Given the description of an element on the screen output the (x, y) to click on. 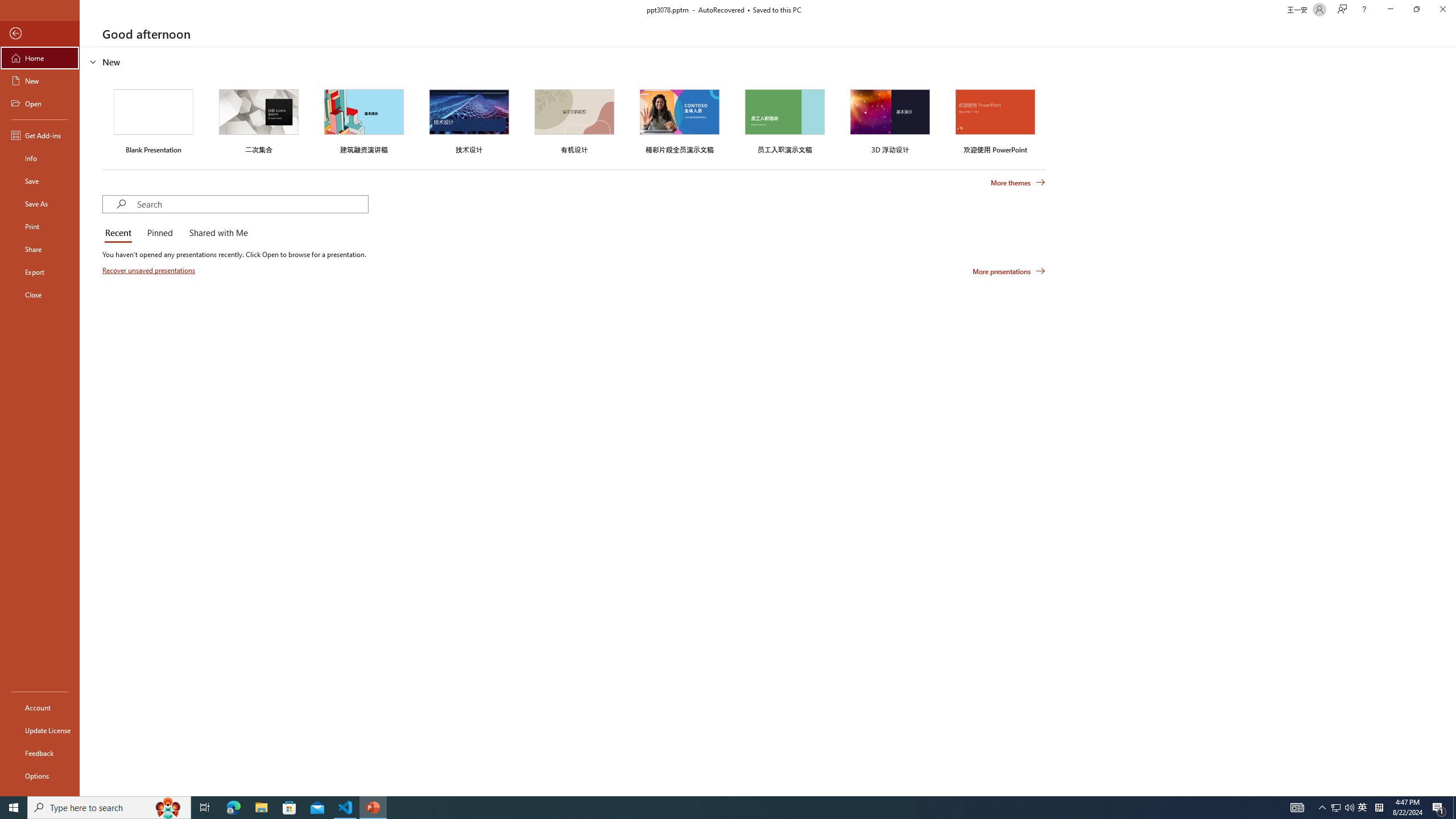
Feedback (40, 753)
Account (40, 707)
New (40, 80)
More themes (1018, 182)
Class: NetUIScrollBar (1450, 421)
Options (40, 775)
Back (40, 33)
Hide or show region (92, 61)
Update License (40, 730)
Shared with Me (215, 233)
